Given the description of an element on the screen output the (x, y) to click on. 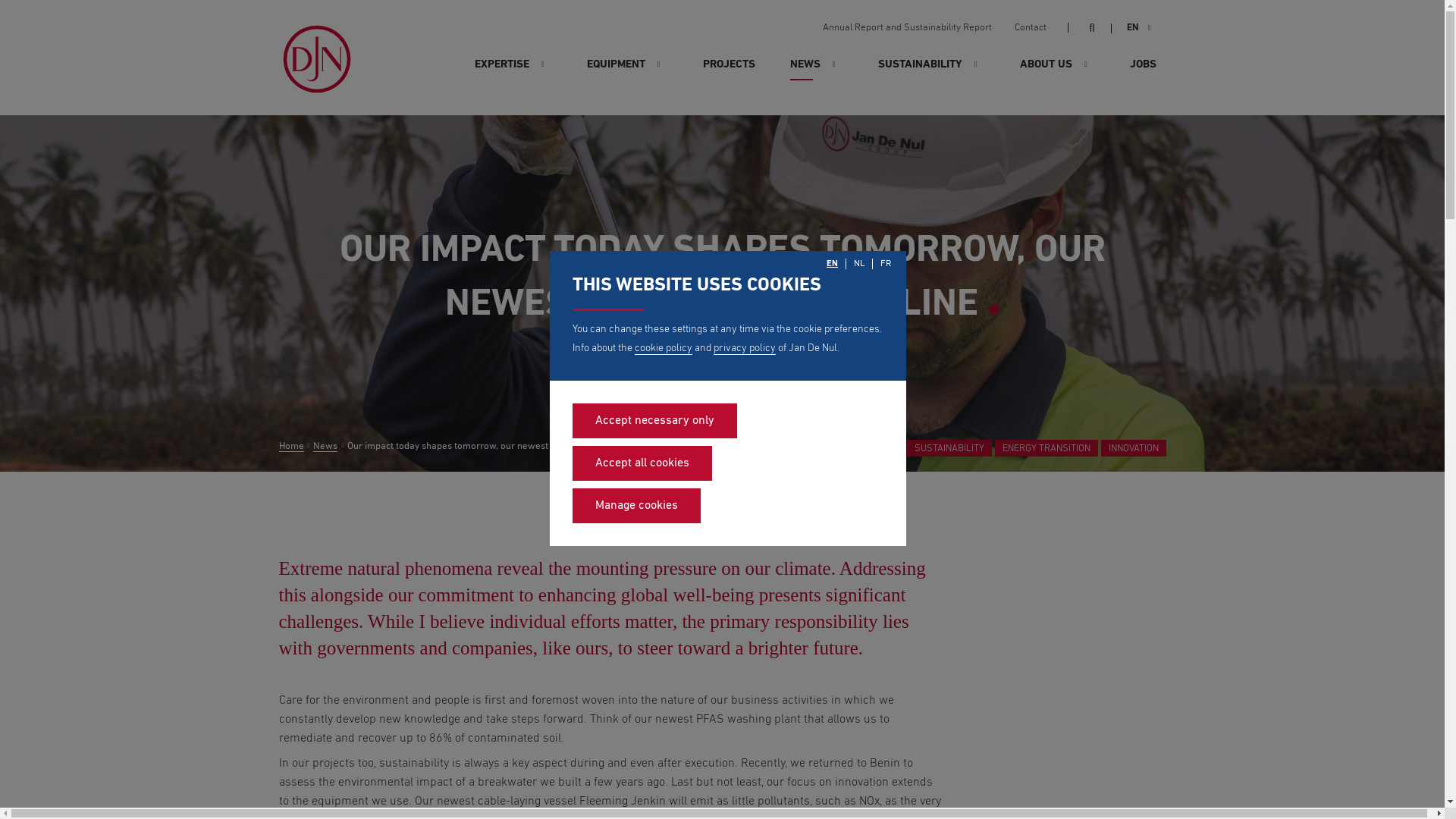
EQUIPMENT (615, 64)
Privacy Policy (744, 348)
ABOUT US (1045, 64)
PROJECTS (727, 64)
NEWS (805, 64)
JOBS (1142, 64)
Cookie Policy (663, 348)
Annual Report and Sustainability Report (906, 27)
EXPERTISE (501, 64)
SUSTAINABILITY (919, 64)
Home (317, 59)
Contact (1030, 27)
